Given the description of an element on the screen output the (x, y) to click on. 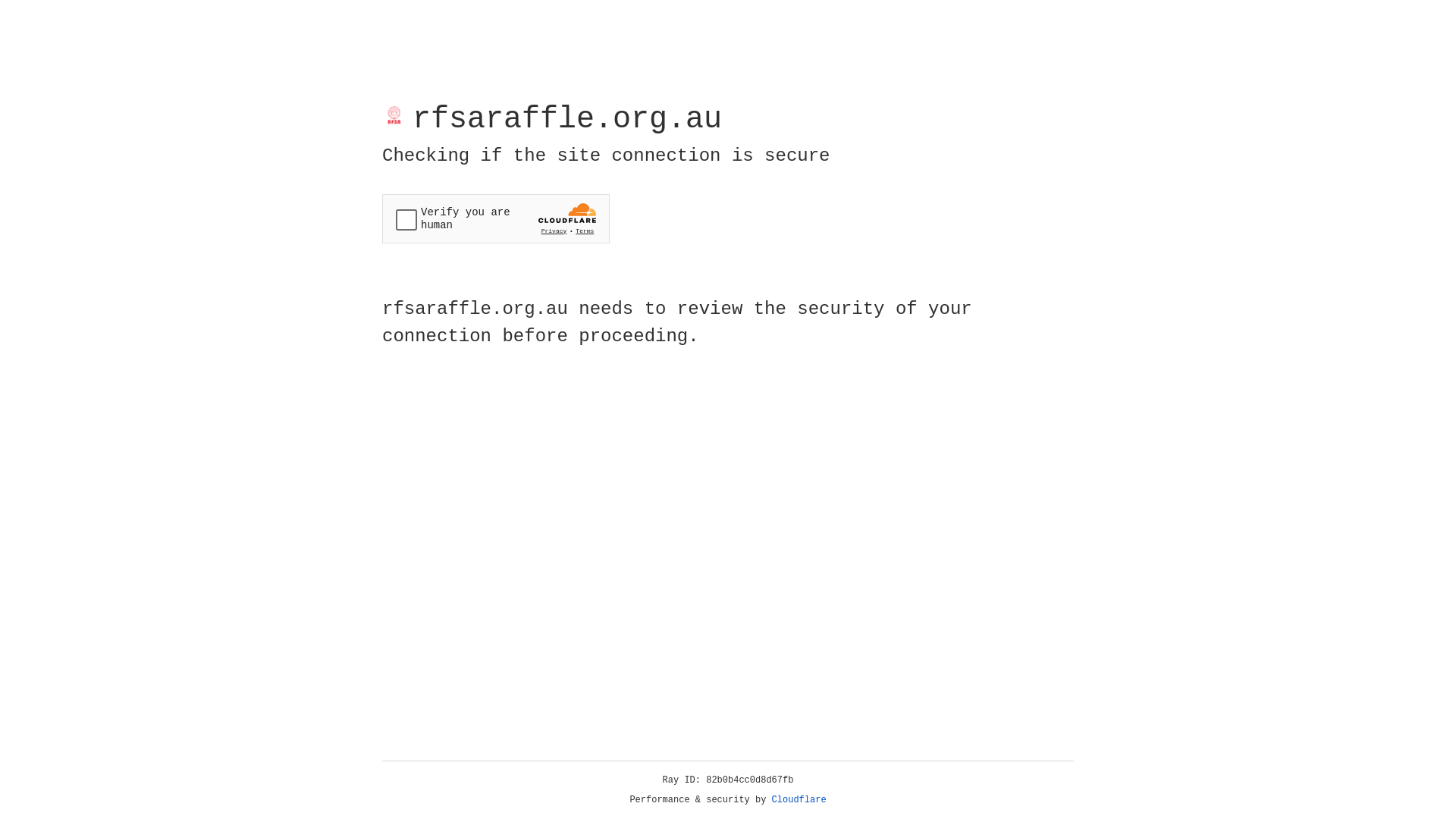
Cloudflare Element type: text (798, 799)
Widget containing a Cloudflare security challenge Element type: hover (495, 218)
